Given the description of an element on the screen output the (x, y) to click on. 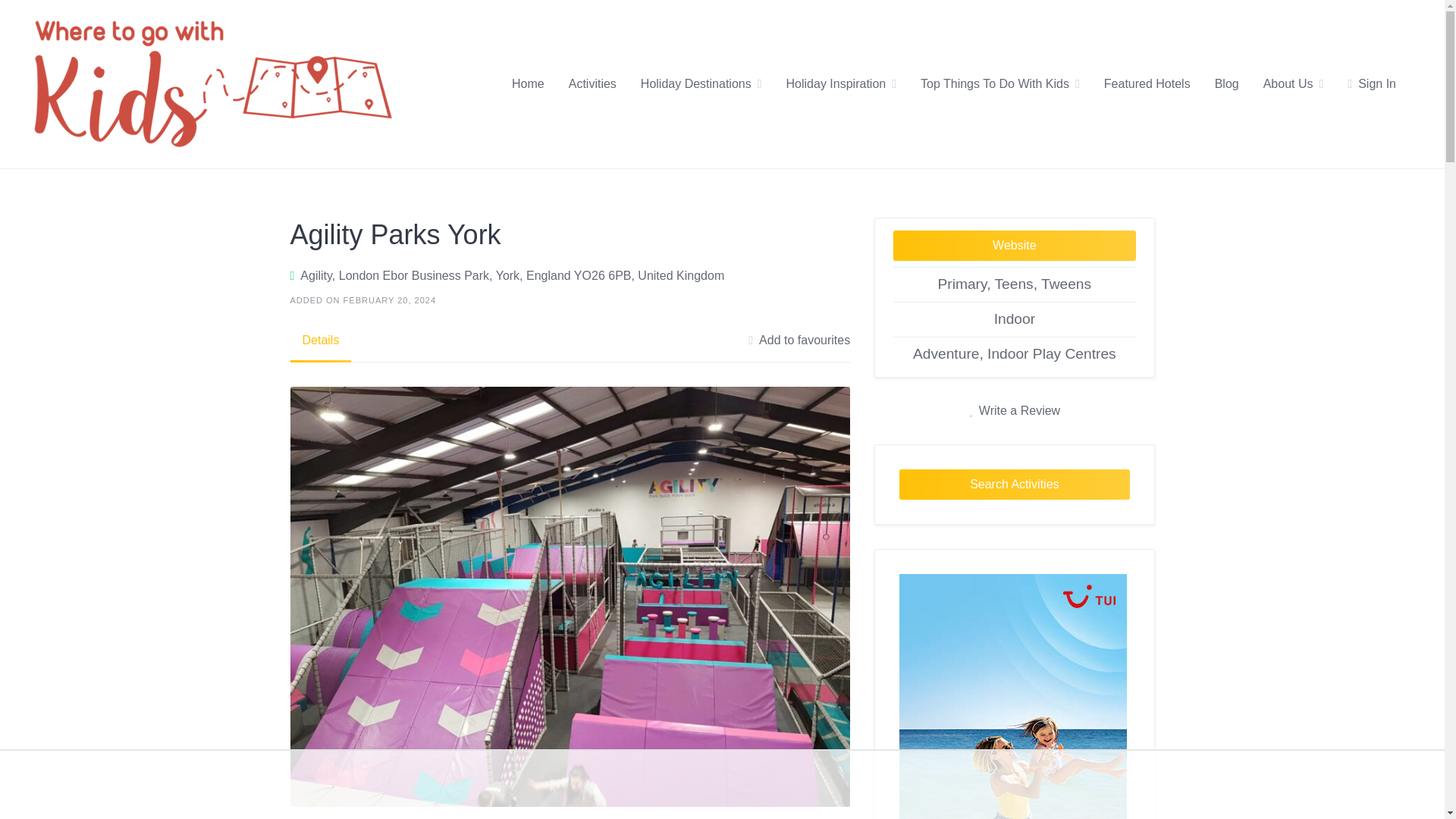
Agility Parks York 7 (1012, 696)
